Given the description of an element on the screen output the (x, y) to click on. 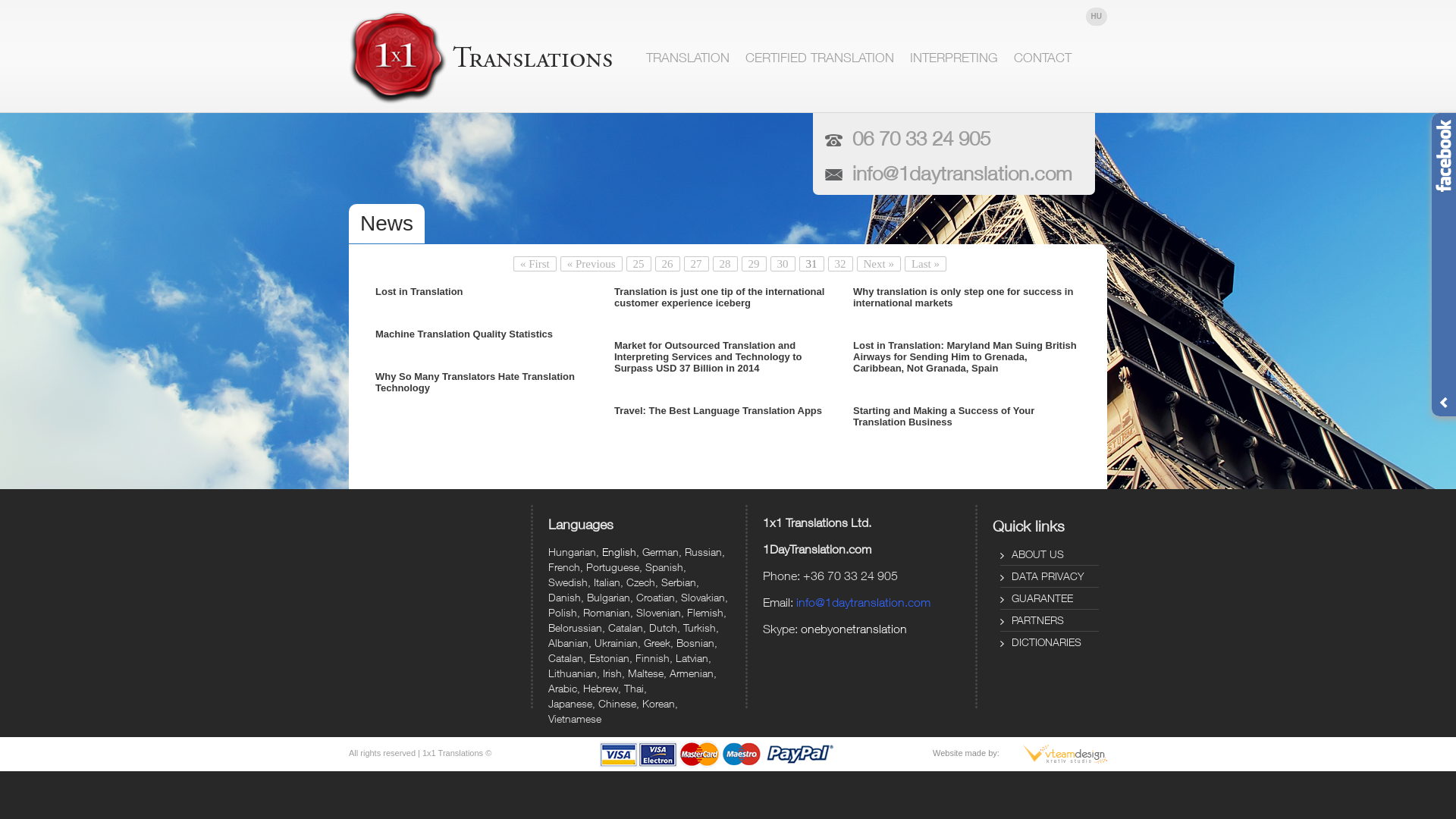
TRANSLATION Element type: text (687, 57)
info@1daytranslation.com Element type: text (962, 173)
onebyonetranslation Element type: text (853, 628)
31 Element type: text (811, 263)
PARTNERS Element type: text (1049, 621)
CERTIFIED TRANSLATION Element type: text (819, 57)
DATA PRIVACY Element type: text (1049, 577)
info@1daytranslation.com Element type: text (863, 601)
Translation in 1 day | 1x1 Translations Element type: hover (483, 57)
Travel: The Best Language Translation Apps Element type: text (727, 410)
ABOUT US Element type: text (1049, 555)
Machine Translation Quality Statistics Element type: text (488, 333)
HU Element type: text (1096, 16)
Why So Many Translators Hate Translation Technology Element type: text (488, 381)
27 Element type: text (696, 263)
DICTIONARIES Element type: text (1049, 643)
Starting and Making a Success of Your Translation Business Element type: text (966, 415)
26 Element type: text (667, 263)
32 Element type: text (840, 263)
30 Element type: text (782, 263)
28 Element type: text (724, 263)
English Element type: text (619, 551)
25 Element type: text (638, 263)
GUARANTEE Element type: text (1049, 599)
29 Element type: text (753, 263)
INTERPRETING Element type: text (953, 57)
Lost in Translation Element type: text (488, 291)
CONTACT Element type: text (1042, 57)
